Given the description of an element on the screen output the (x, y) to click on. 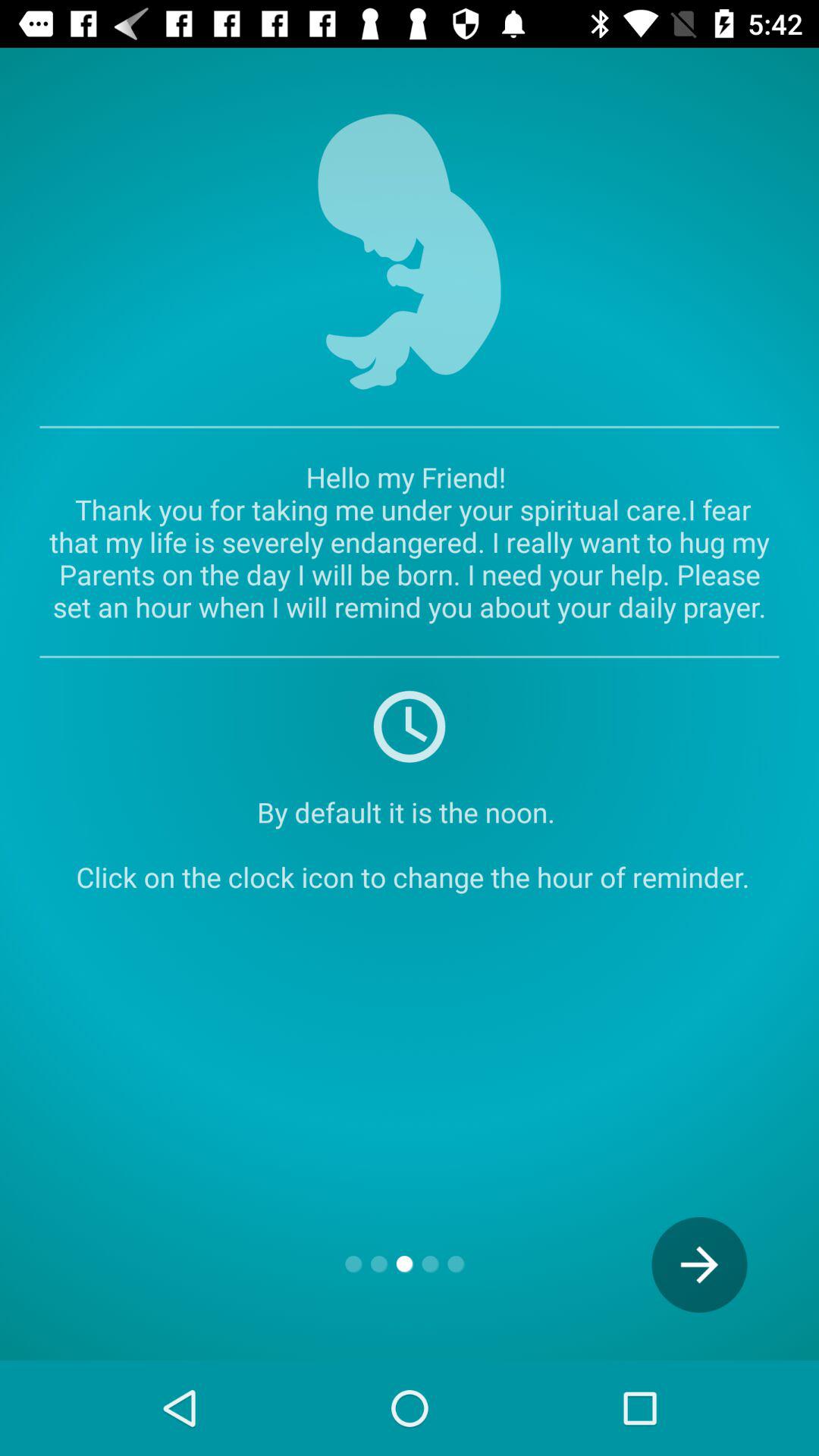
clock for time display (409, 725)
